Given the description of an element on the screen output the (x, y) to click on. 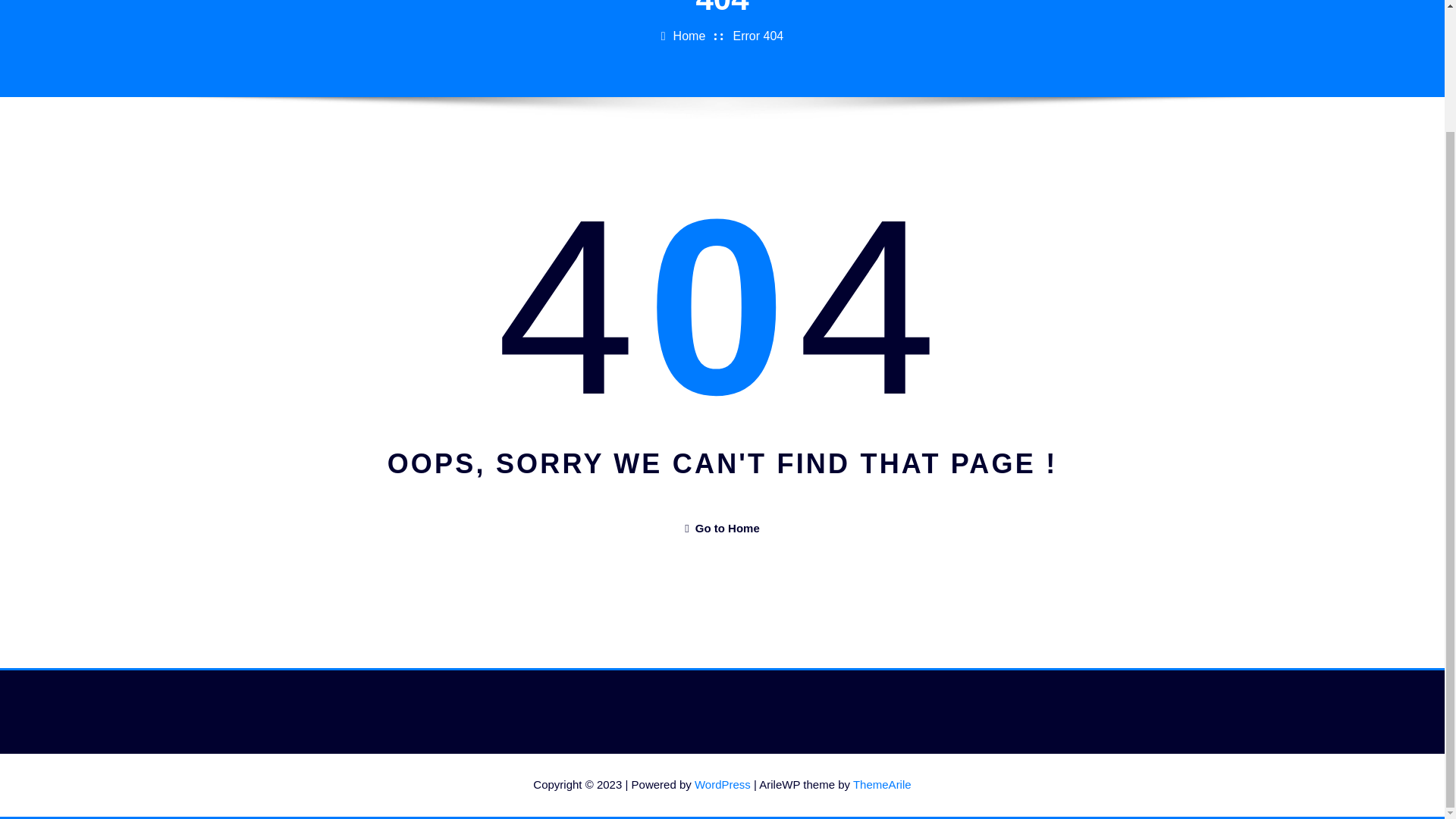
Go to Home (721, 528)
ThemeArile (882, 784)
Home (689, 35)
Error 404 (758, 35)
WordPress (722, 784)
